Given the description of an element on the screen output the (x, y) to click on. 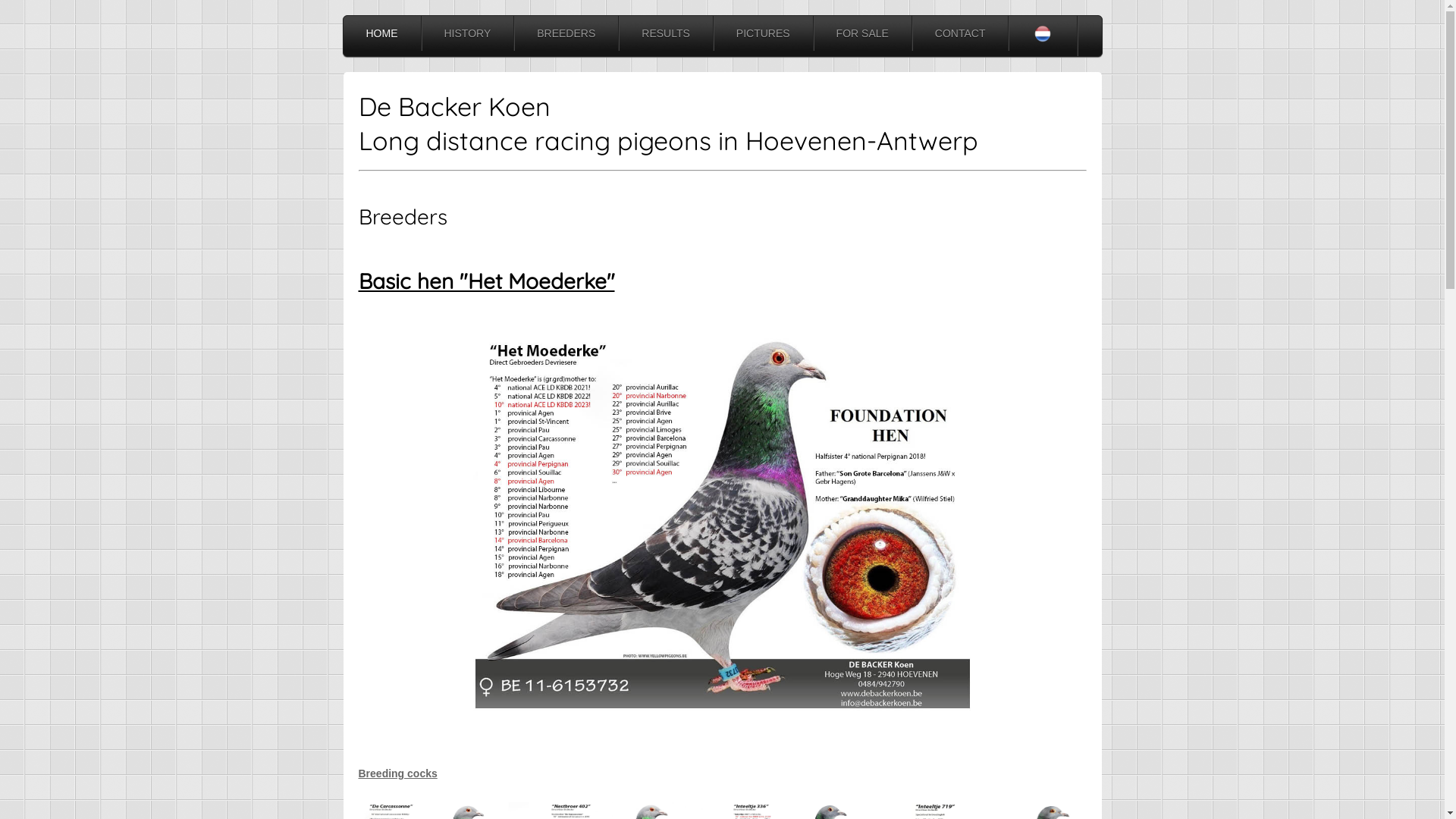
CONTACT Element type: text (960, 32)
HOME Element type: text (381, 32)
HISTORY Element type: text (467, 32)
PICTURES Element type: text (762, 32)
BREEDERS Element type: text (566, 32)
Het Moederke Element type: hover (721, 524)
RESULTS Element type: text (665, 32)
FOR SALE Element type: text (862, 32)
